Given the description of an element on the screen output the (x, y) to click on. 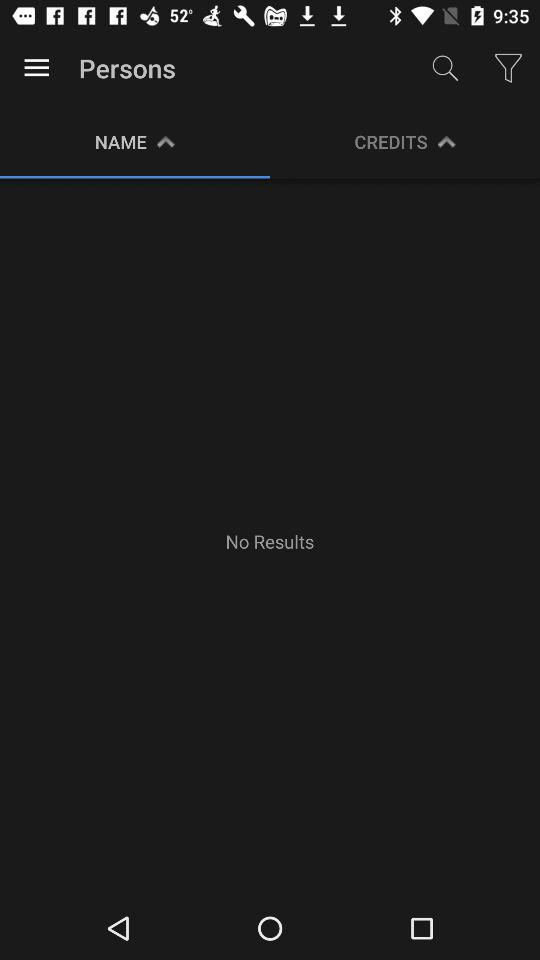
launch the item above credits icon (444, 67)
